Given the description of an element on the screen output the (x, y) to click on. 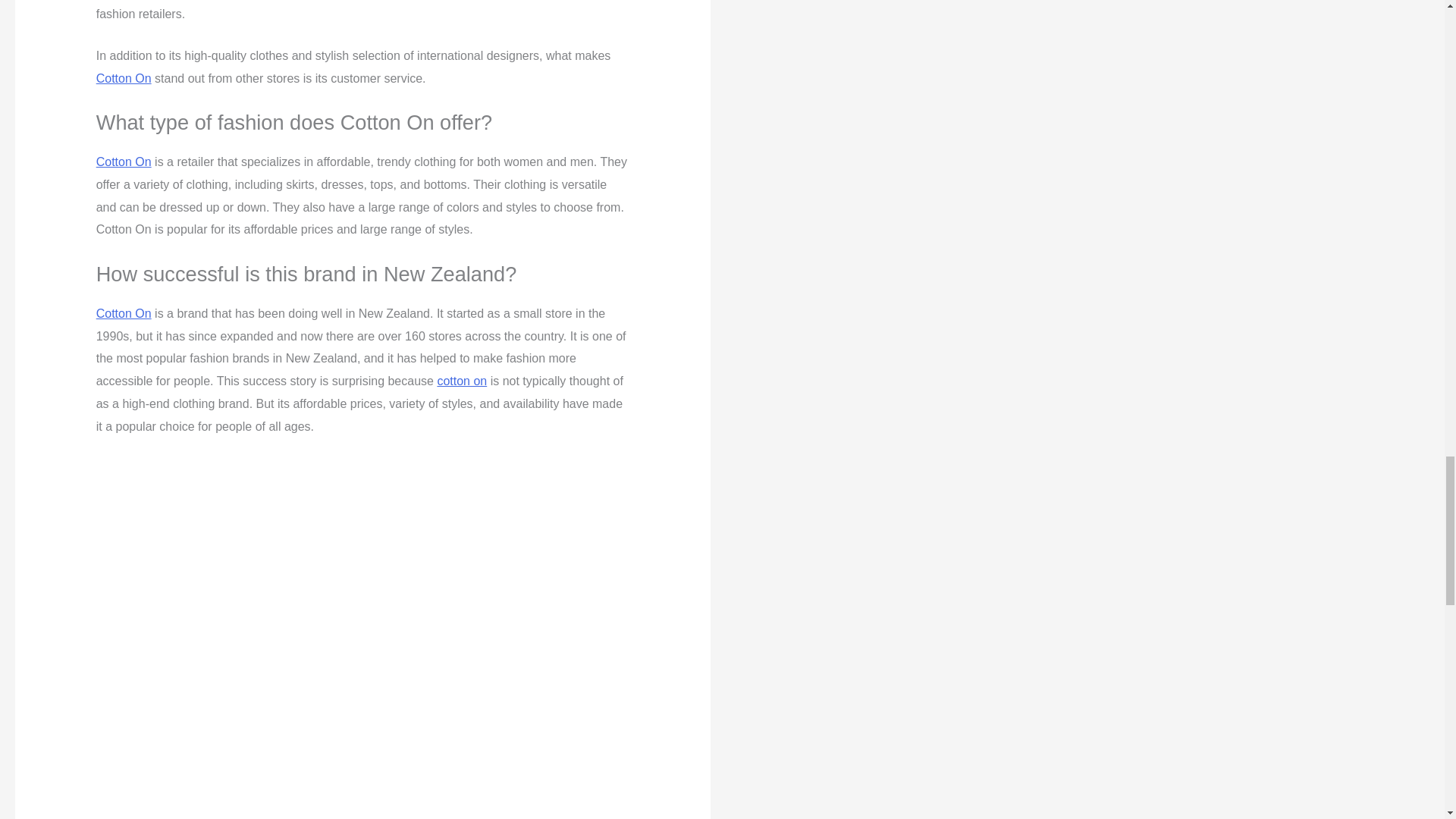
Cotton On (123, 78)
Cotton On (123, 313)
Cotton On (123, 161)
